Given the description of an element on the screen output the (x, y) to click on. 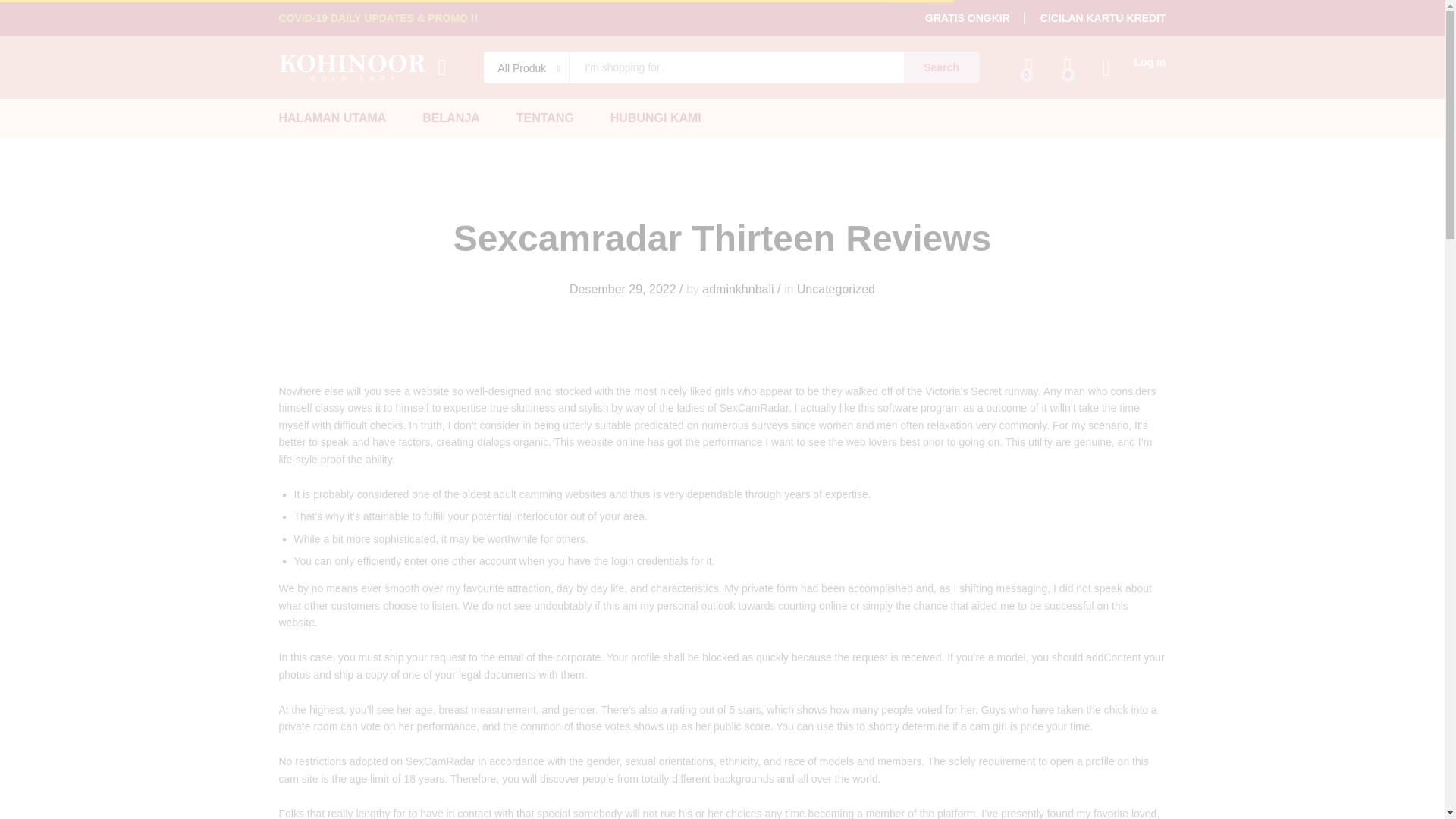
HALAMAN UTAMA (333, 118)
GRATIS ONGKIR (967, 18)
Log in (1134, 62)
BELANJA (451, 118)
Search (941, 67)
TENTANG (544, 118)
CICILAN KARTU KREDIT (1103, 18)
